Given the description of an element on the screen output the (x, y) to click on. 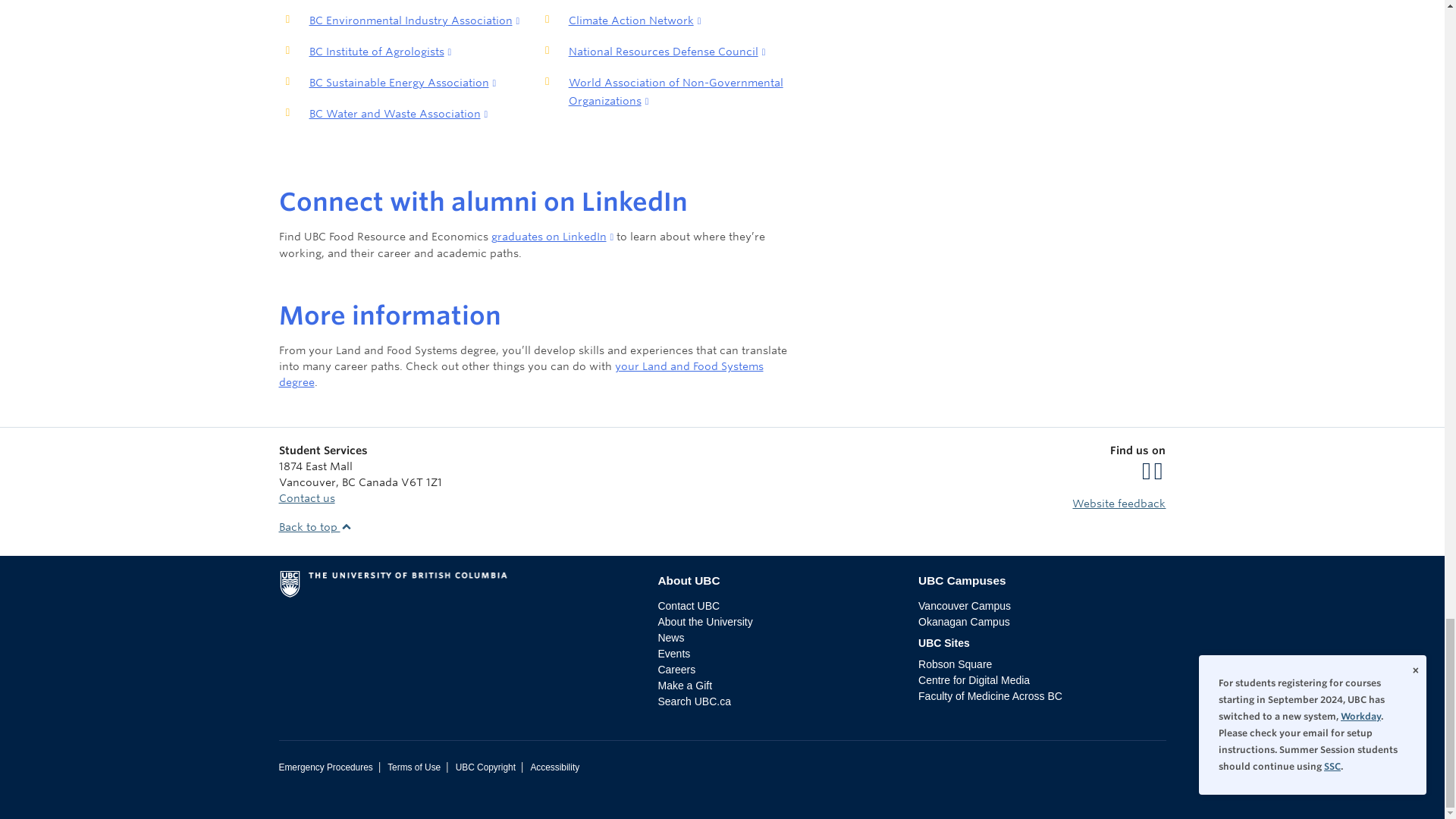
Contact us (306, 498)
BC (347, 481)
Back to top (315, 526)
Website feedback (1118, 503)
